Given the description of an element on the screen output the (x, y) to click on. 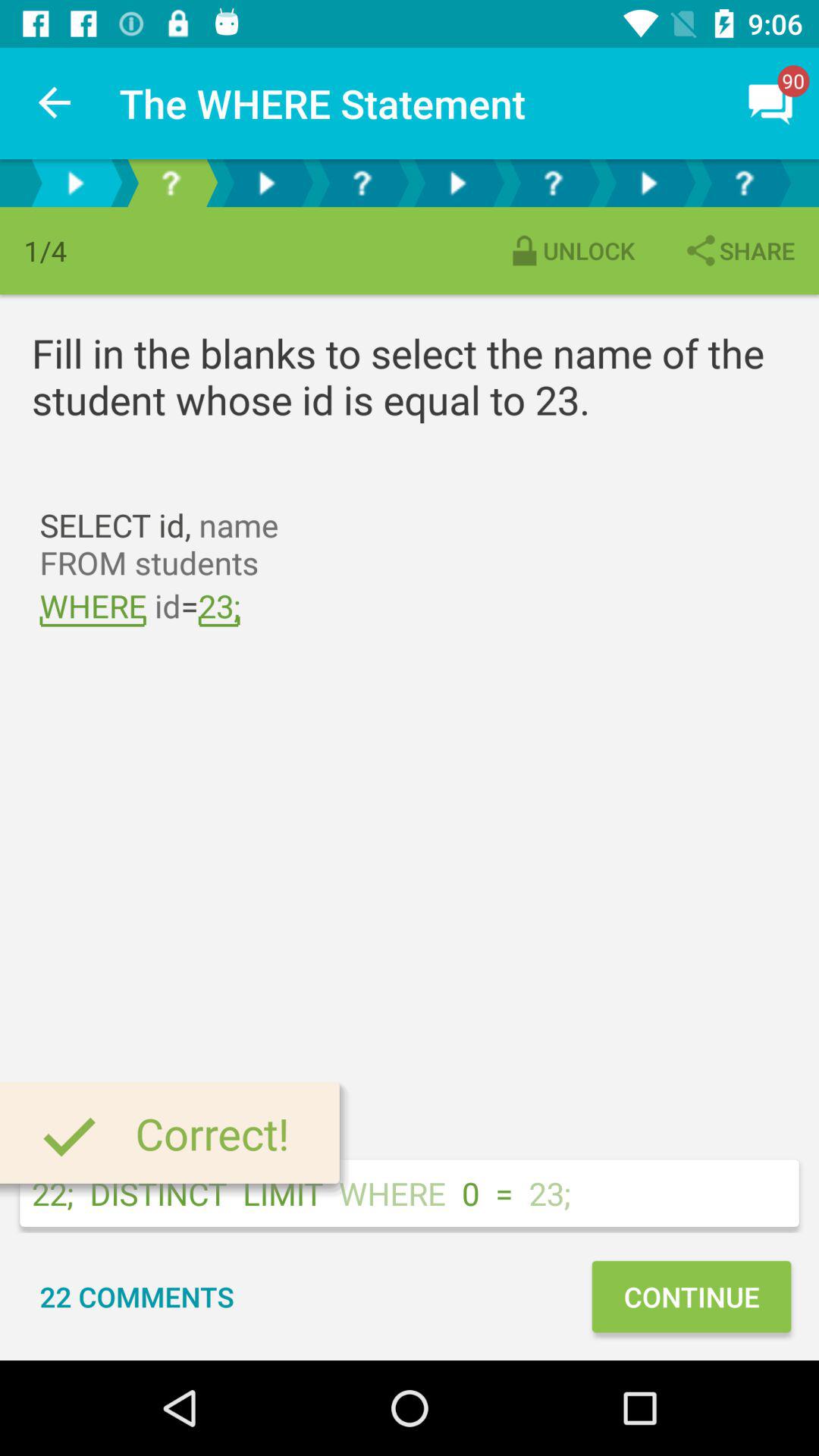
turn off the icon to the left of the where statement item (55, 103)
